Given the description of an element on the screen output the (x, y) to click on. 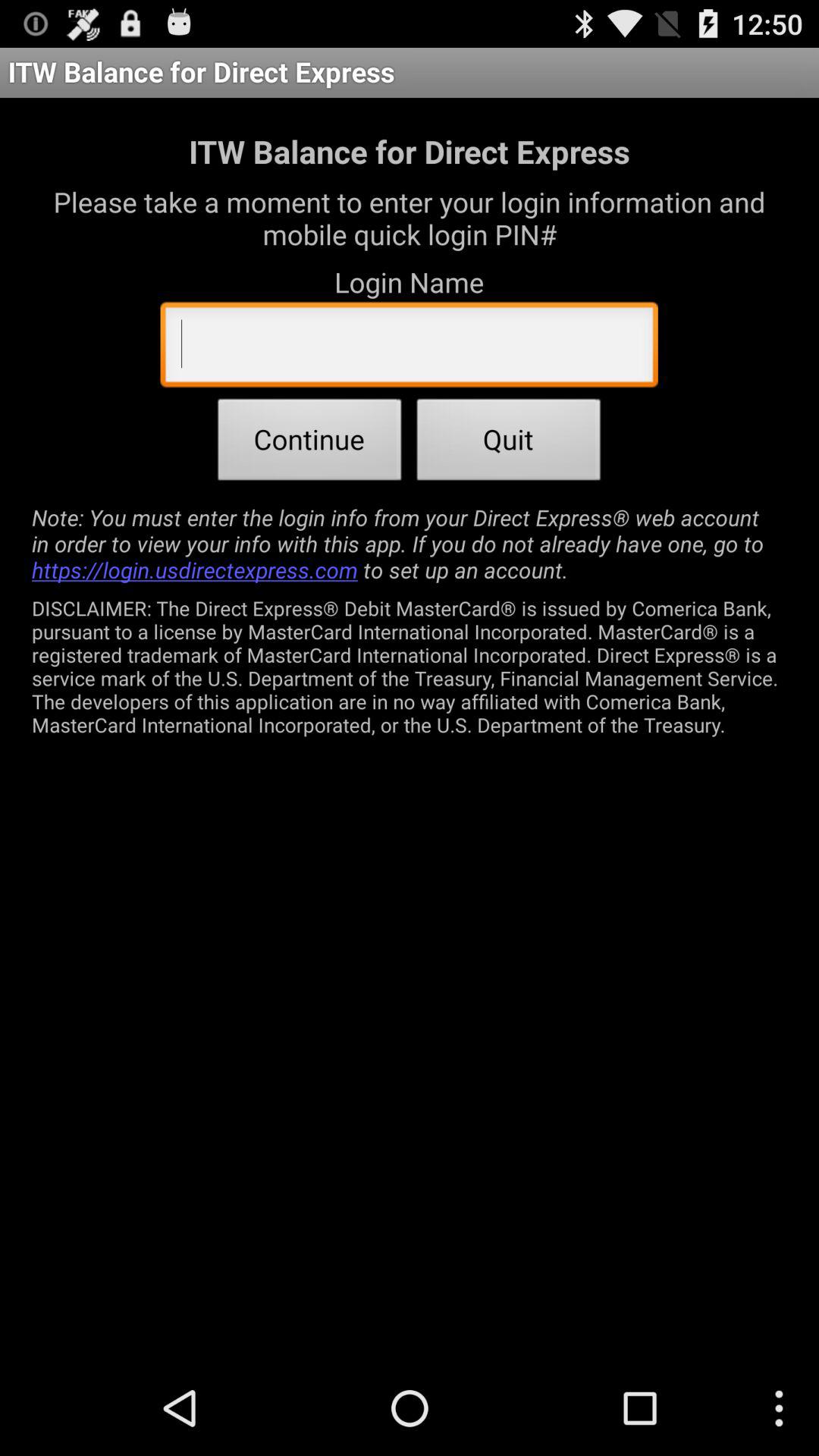
tap item below continue icon (409, 543)
